Given the description of an element on the screen output the (x, y) to click on. 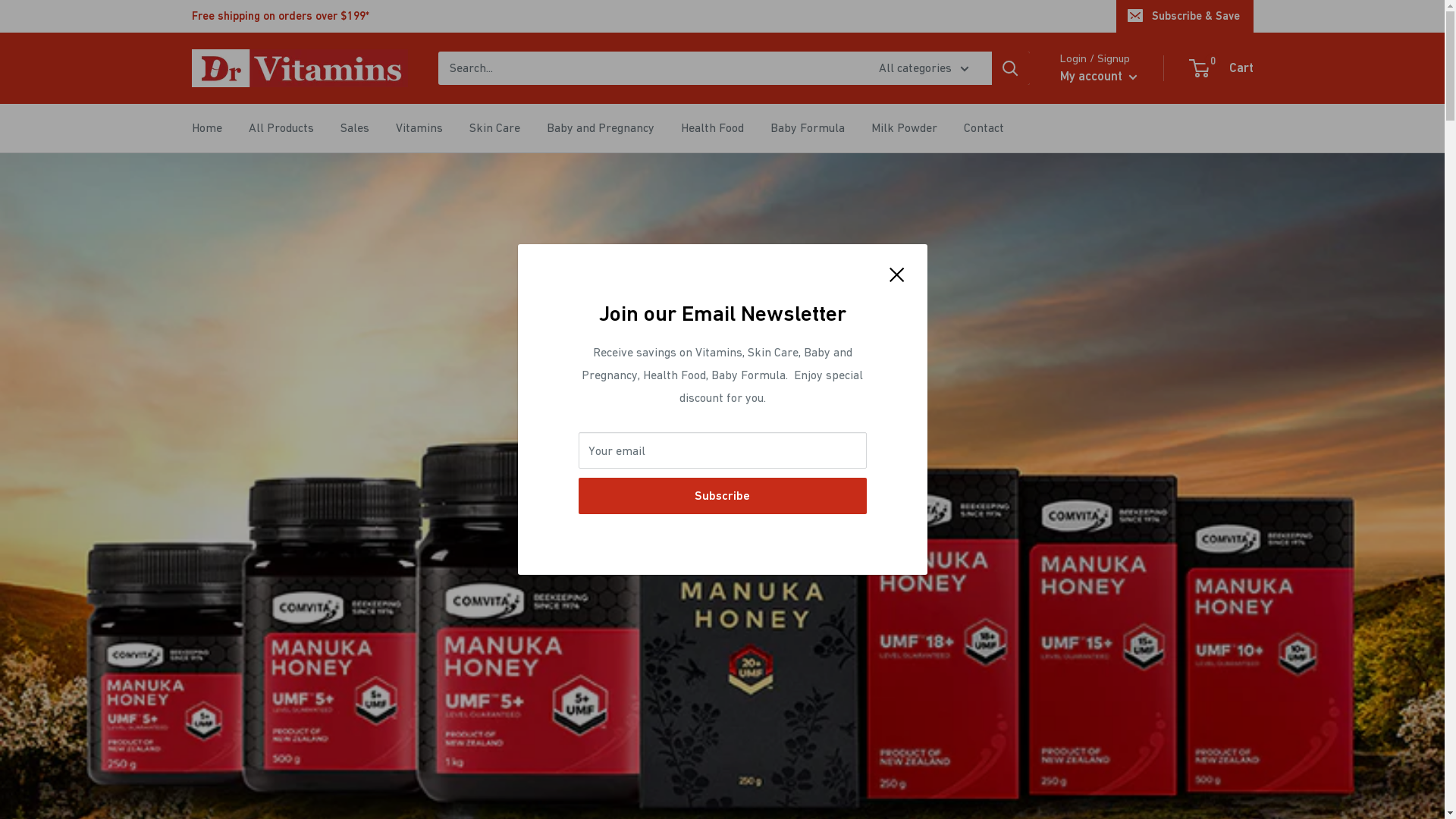
Baby Formula Element type: text (807, 127)
Milk Powder Element type: text (903, 127)
Skin Care Element type: text (493, 127)
Home Element type: text (206, 127)
Health Food Element type: text (711, 127)
My account Element type: text (1098, 76)
Baby and Pregnancy Element type: text (599, 127)
0
Cart Element type: text (1221, 68)
Subscribe Element type: text (721, 495)
Vitamins Element type: text (418, 127)
Subscribe & Save Element type: text (1184, 15)
Sales Element type: text (353, 127)
All Products Element type: text (280, 127)
Contact Element type: text (983, 127)
